Given the description of an element on the screen output the (x, y) to click on. 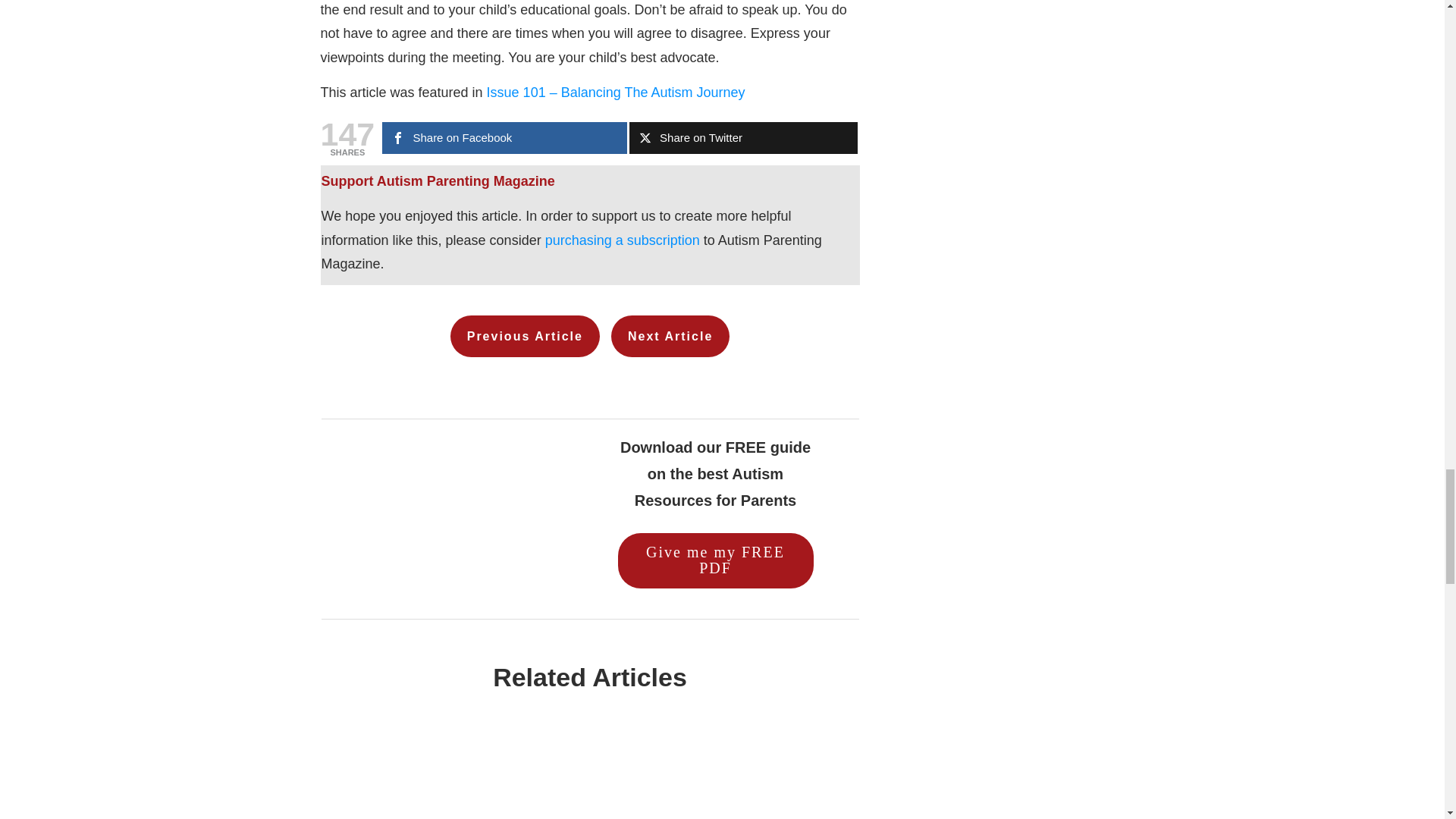
Give me my FREE PDF (714, 560)
Helping Autistic Children Understand the Concept of Time (449, 780)
Previous Article (524, 336)
Autism Resources for parents updated1 (445, 518)
Structured Teaching for Autism: All You Need to Know (730, 780)
purchasing a subscription (622, 240)
Share on Facebook (504, 137)
Next Article (670, 336)
Share on Twitter (742, 137)
